Given the description of an element on the screen output the (x, y) to click on. 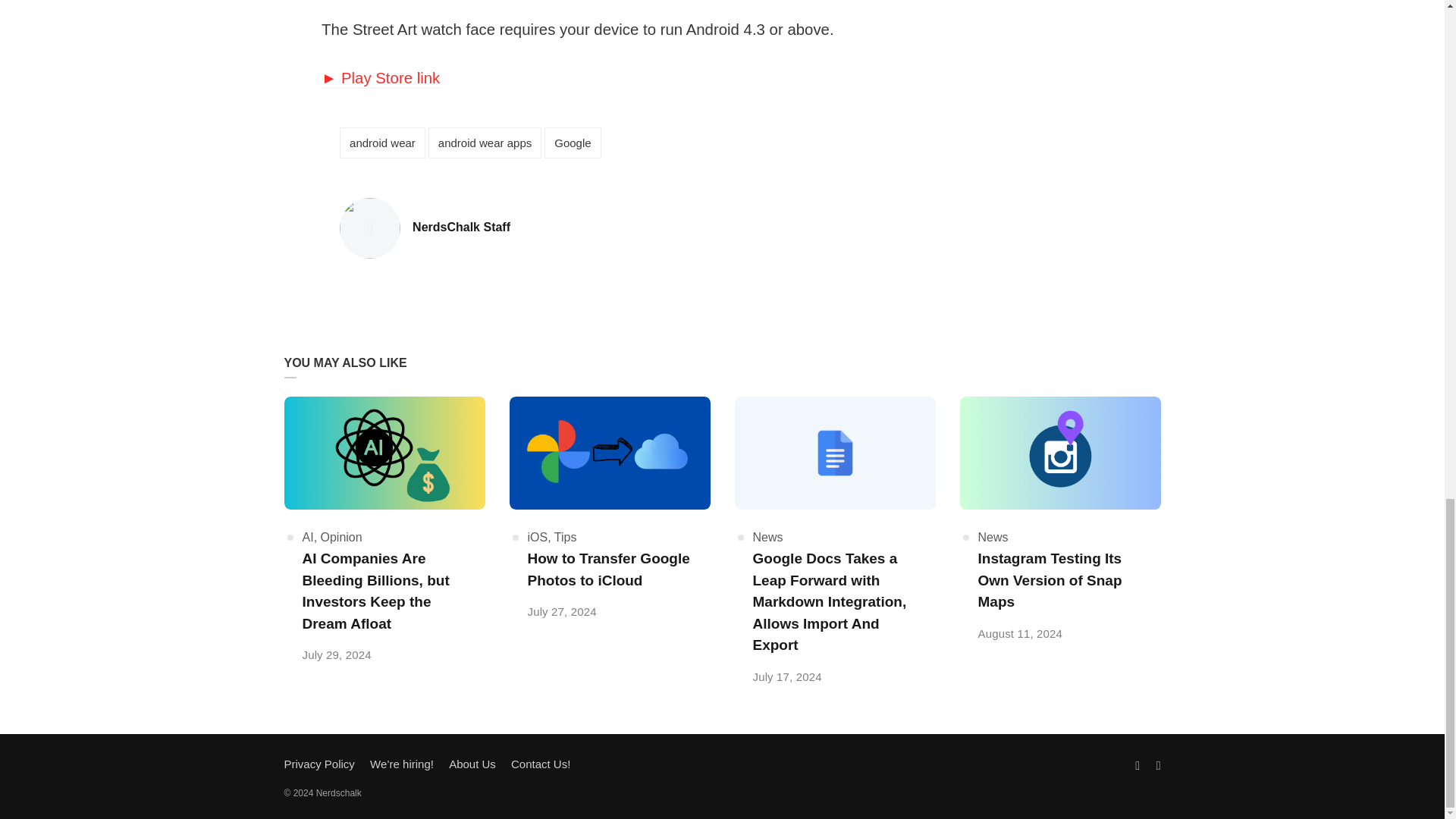
android wear (382, 142)
iOS (537, 536)
Contact Us! (540, 763)
android wear apps (484, 142)
News (767, 536)
News (993, 536)
Tips (565, 536)
About Us (472, 763)
Privacy Policy (318, 763)
Opinion (341, 536)
